Given the description of an element on the screen output the (x, y) to click on. 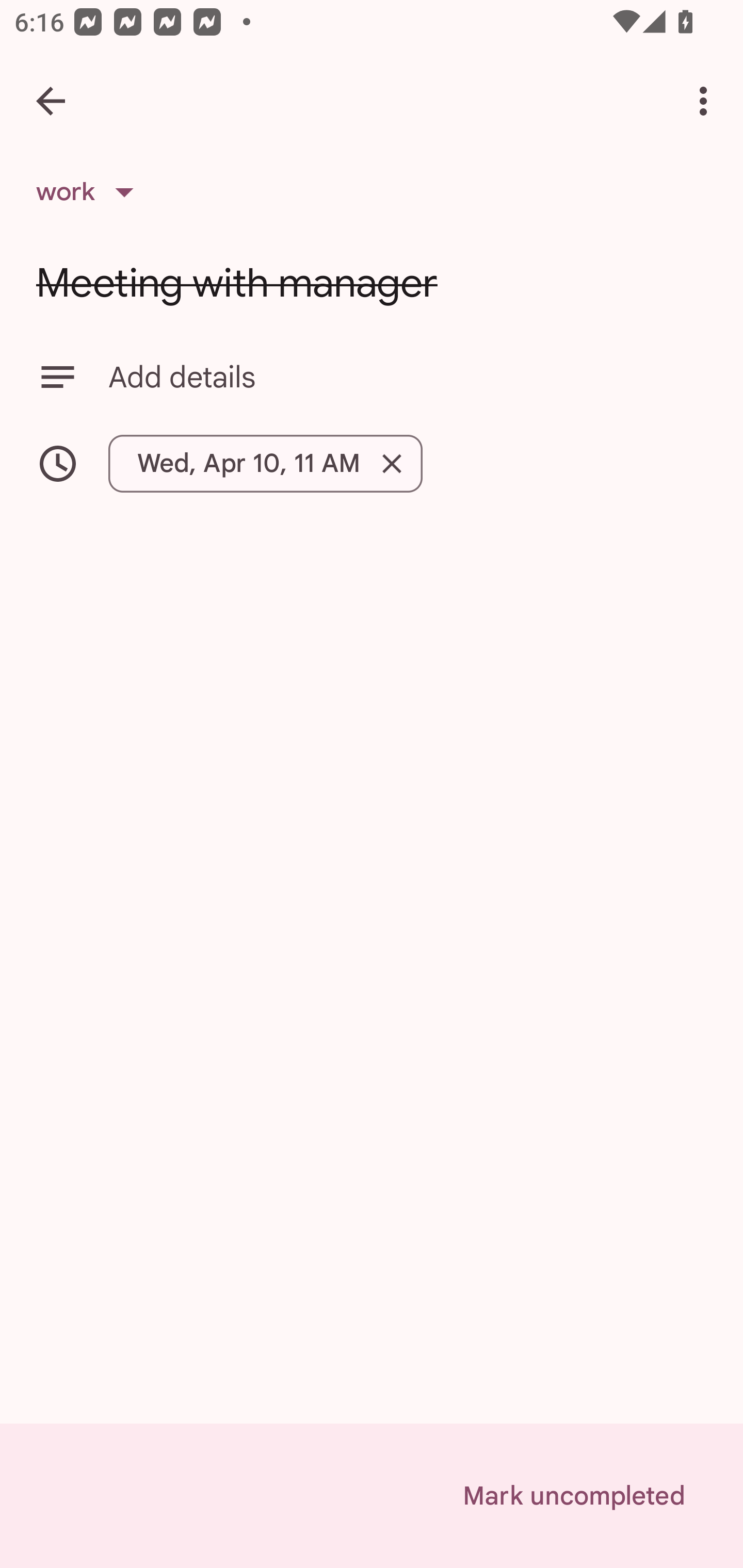
Back (50, 101)
More options (706, 101)
work List, work selected, 1 of 13 (91, 191)
Meeting with manager (371, 283)
Add details (371, 376)
Add details (407, 376)
Wed, Apr 10, 11 AM Remove date/time (371, 463)
Wed, Apr 10, 11 AM Remove date/time (265, 463)
Mark uncompleted (573, 1495)
